Given the description of an element on the screen output the (x, y) to click on. 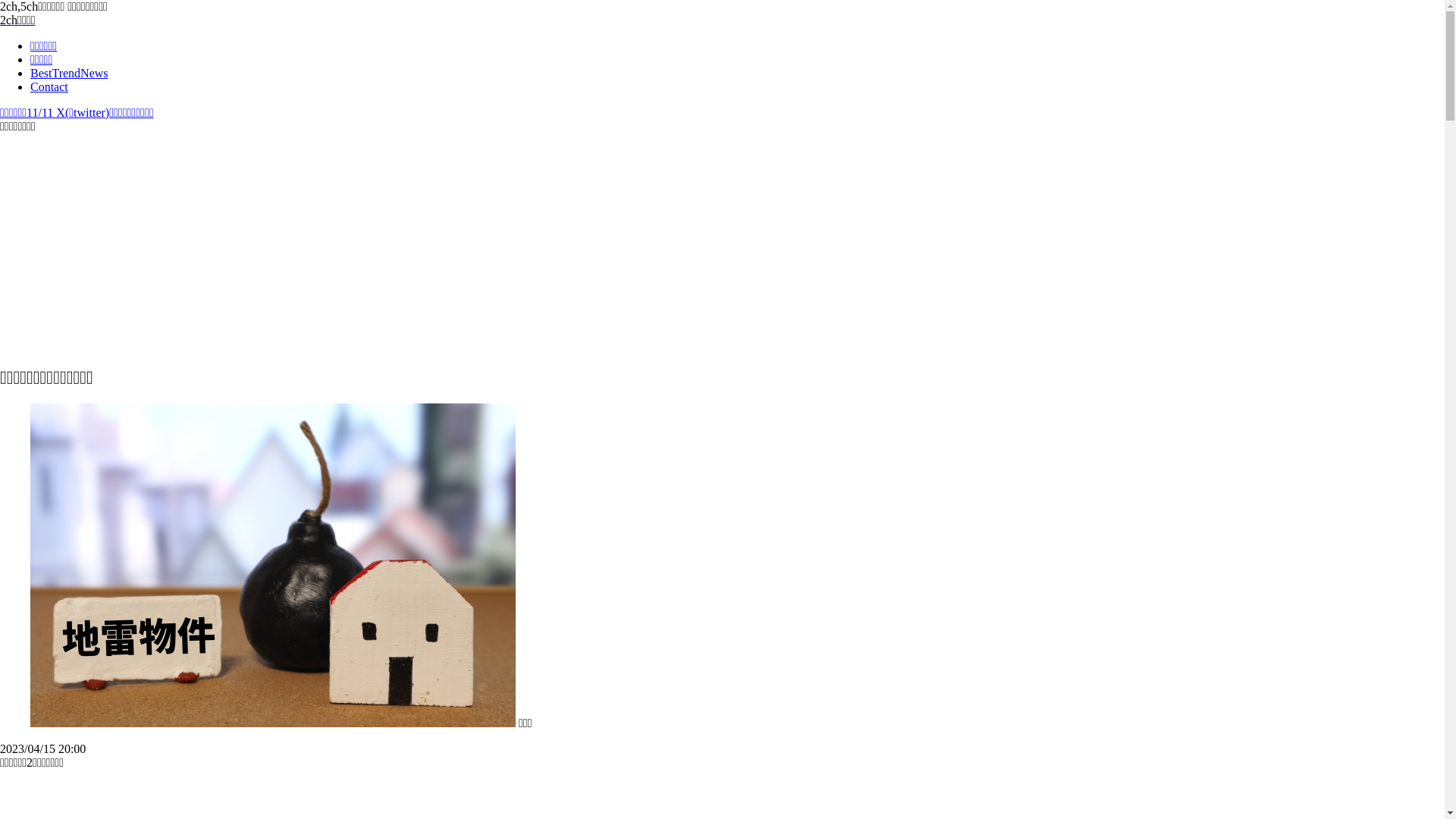
Contact Element type: text (737, 87)
BestTrendNews Element type: text (737, 73)
Advertisement Element type: hover (326, 239)
